Given the description of an element on the screen output the (x, y) to click on. 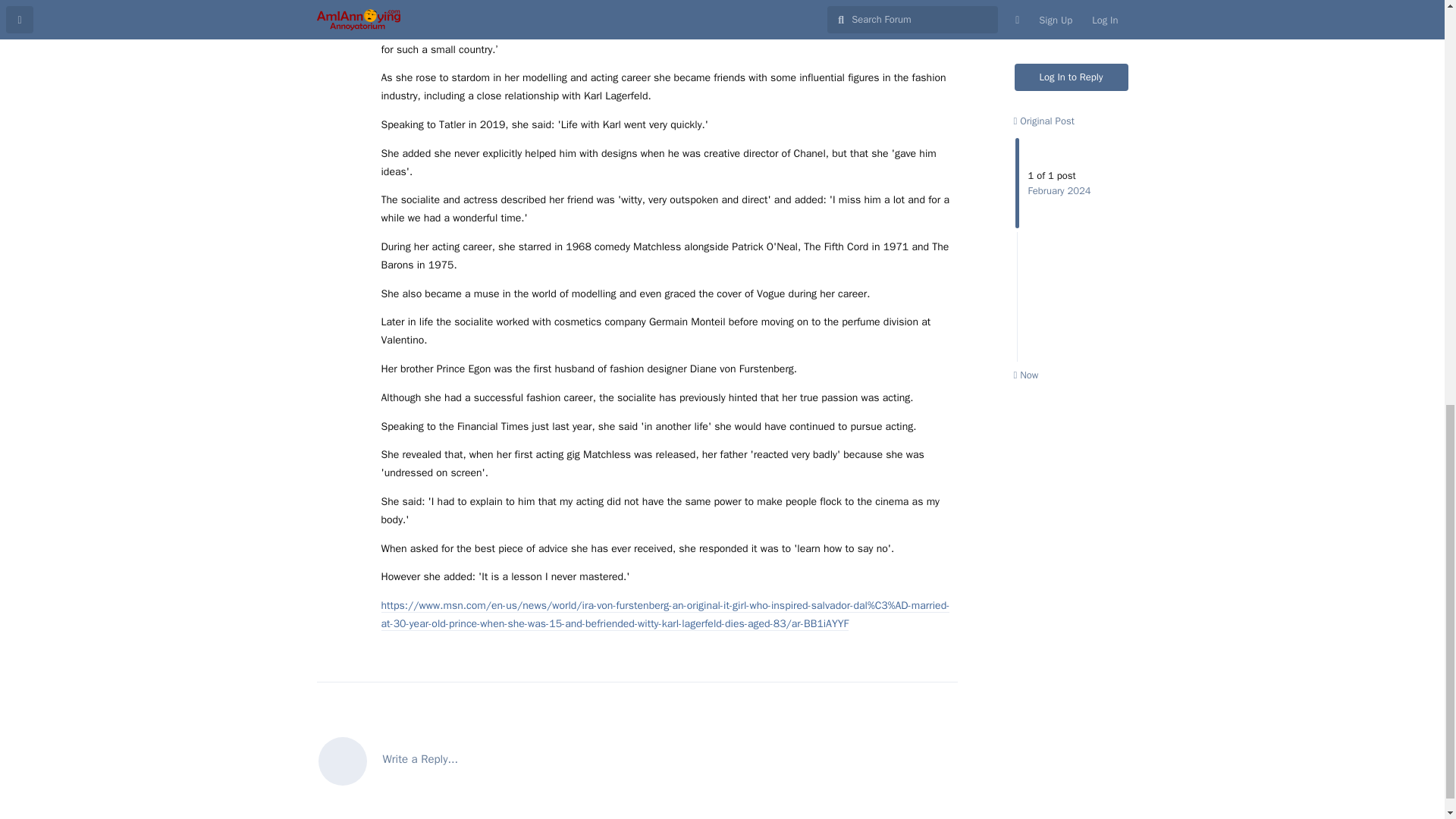
Write a Reply... (636, 759)
